Given the description of an element on the screen output the (x, y) to click on. 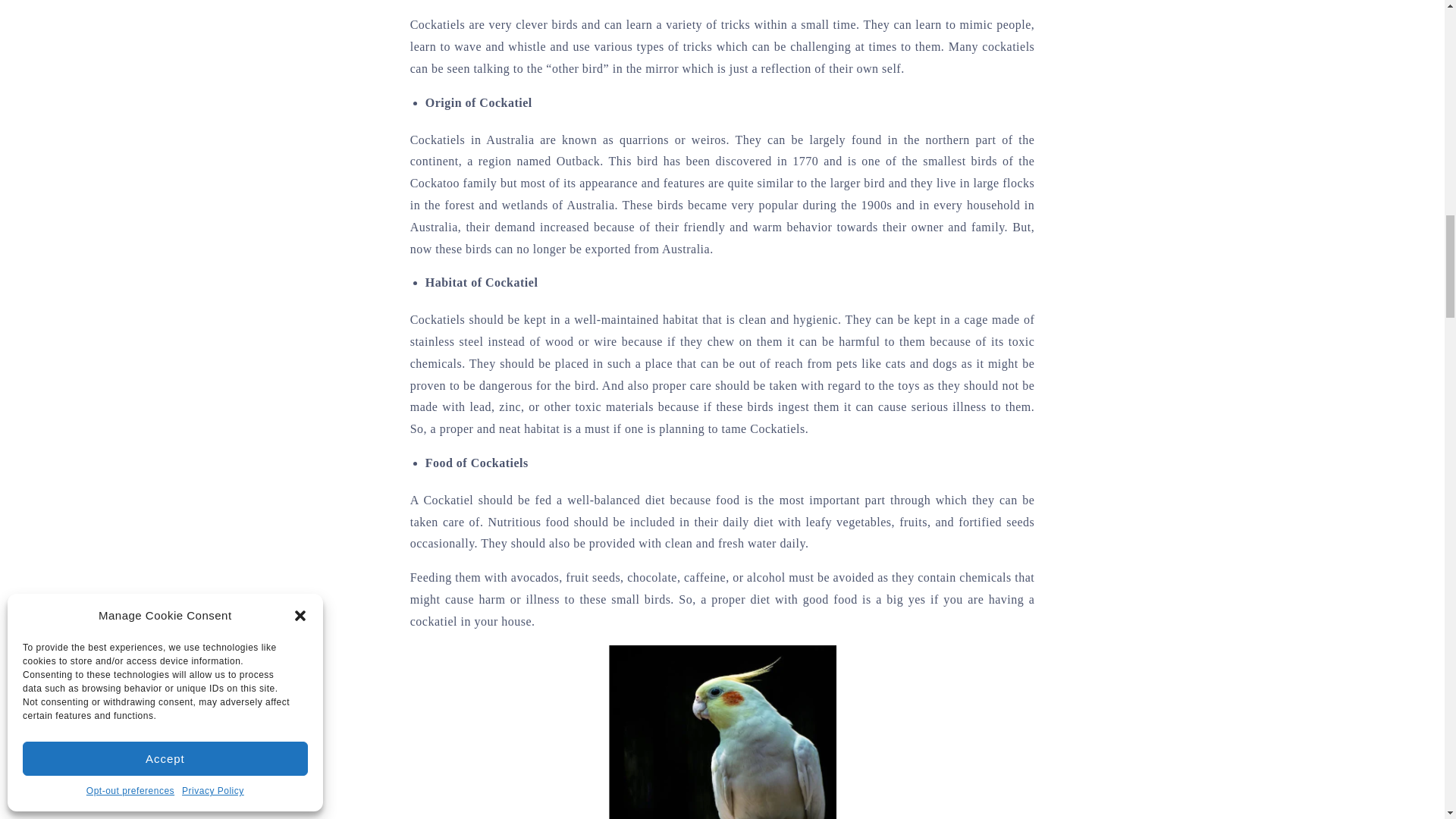
Cockatiel - Erakina 2 (721, 732)
